Given the description of an element on the screen output the (x, y) to click on. 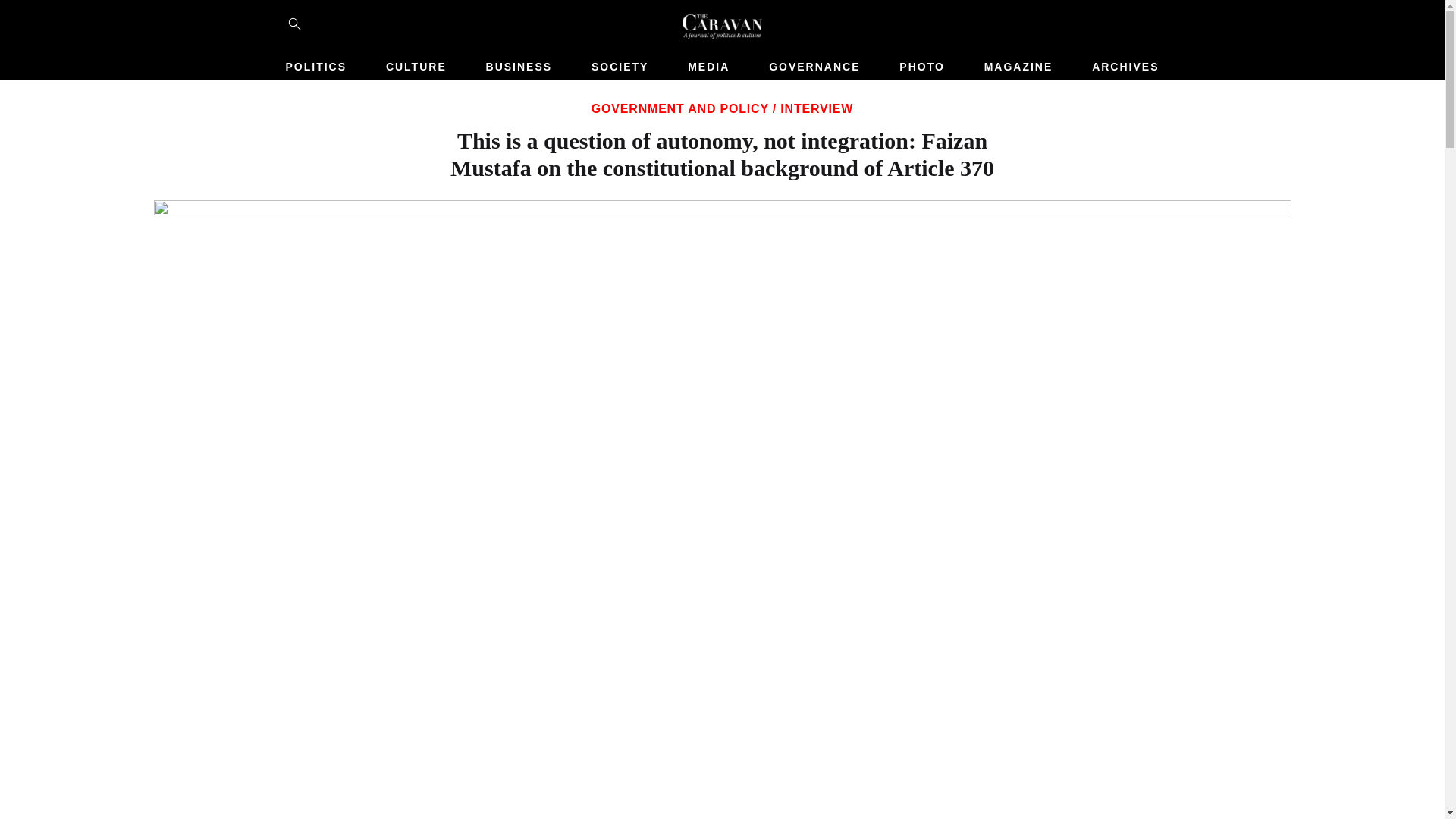
INTERVIEW (816, 108)
CULTURE (416, 66)
SOCIETY (619, 66)
POLITICS (315, 66)
MAGAZINE (1018, 66)
GOVERNANCE (814, 66)
MEDIA (708, 66)
BUSINESS (519, 66)
GOVERNMENT AND POLICY (679, 108)
ARCHIVES (1125, 66)
PHOTO (921, 66)
